Given the description of an element on the screen output the (x, y) to click on. 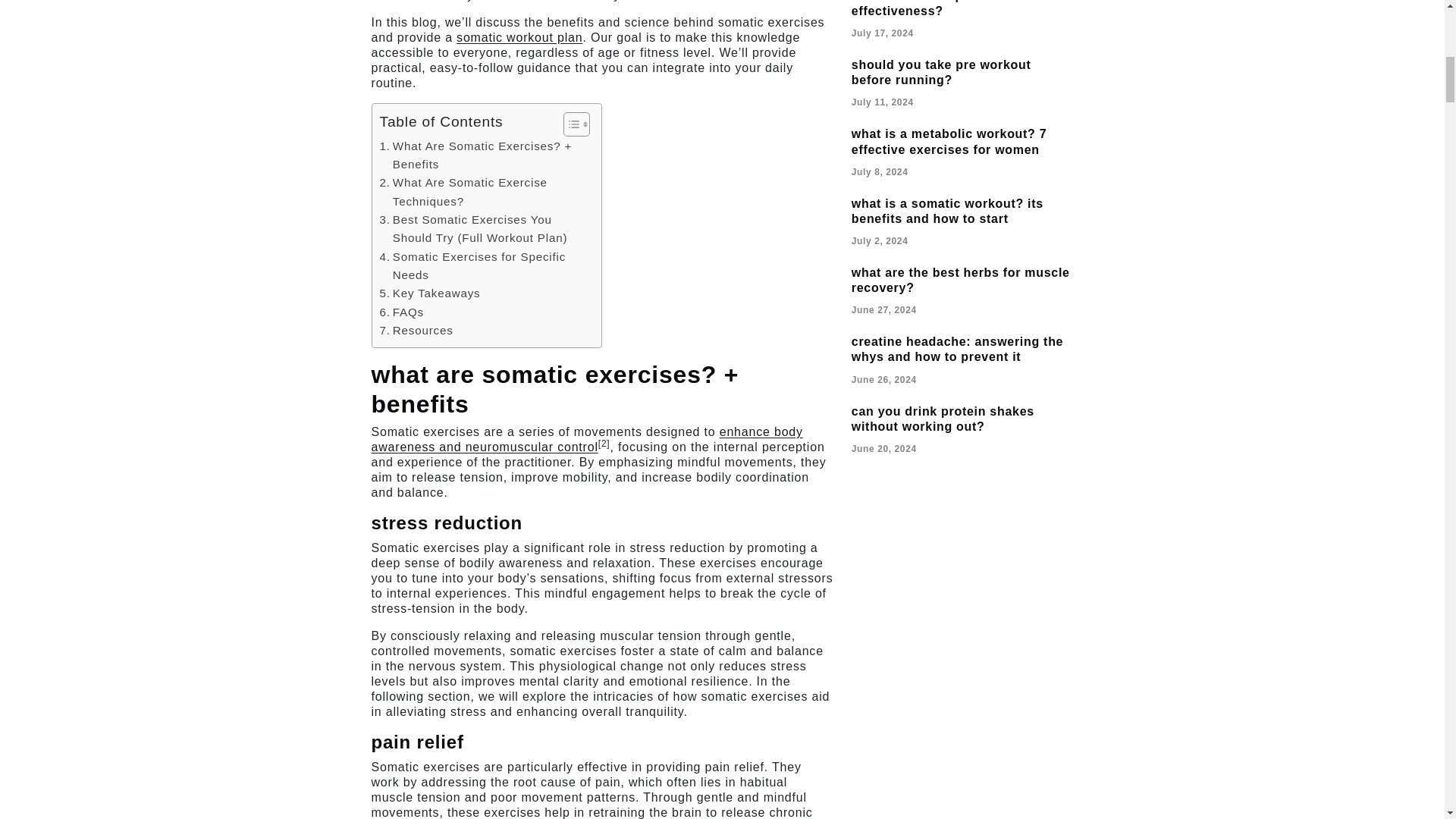
FAQs (400, 312)
Somatic Exercises for Specific Needs (482, 266)
enhance body awareness and neuromuscular control (587, 439)
somatic workout plan (519, 37)
What Are Somatic Exercise Techniques? (482, 191)
Somatic Exercises for Specific Needs (482, 266)
What Are Somatic Exercise Techniques? (482, 191)
Resources (415, 330)
FAQs (400, 312)
Resources (415, 330)
